Given the description of an element on the screen output the (x, y) to click on. 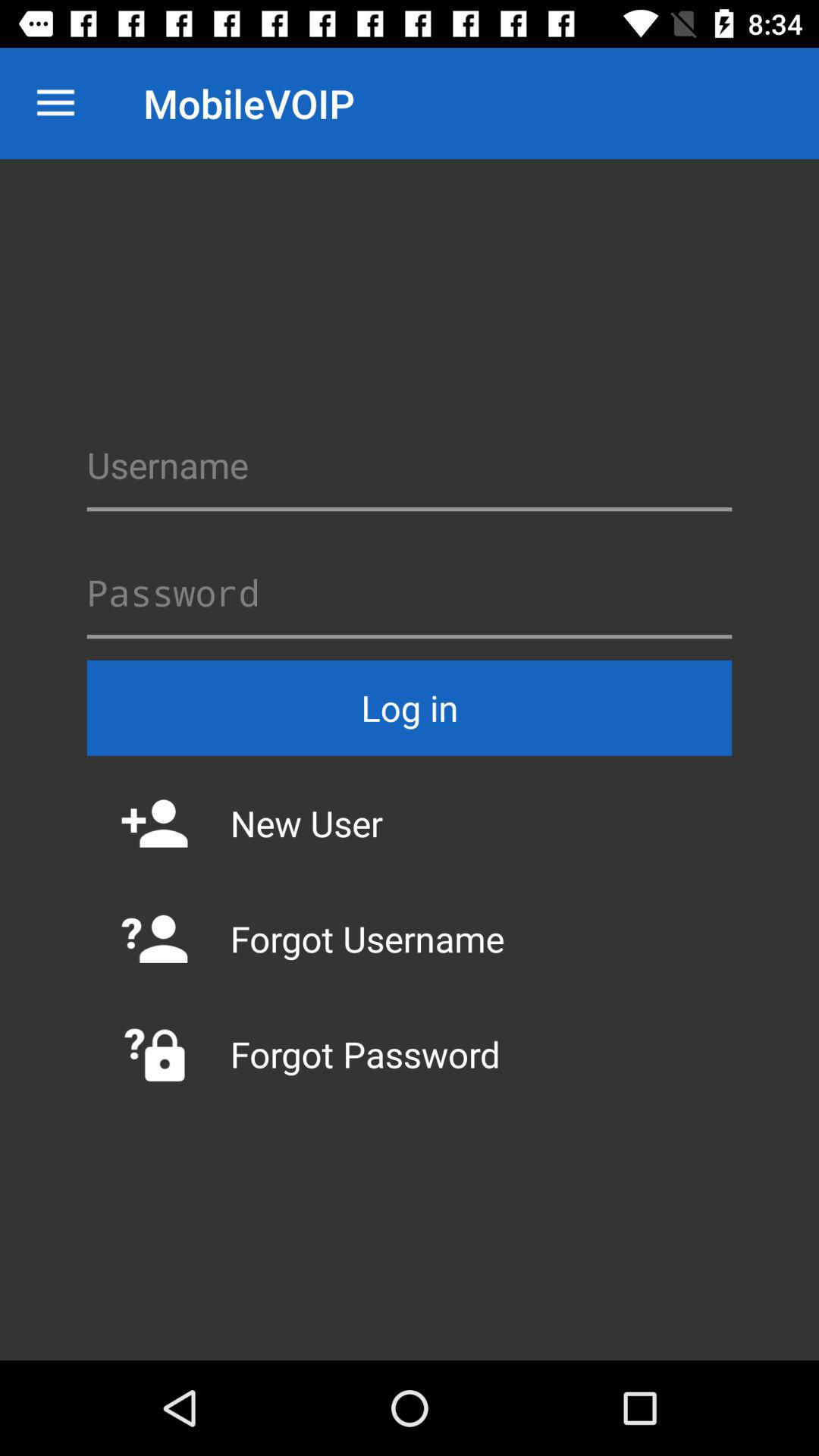
open forgot username icon (409, 938)
